Given the description of an element on the screen output the (x, y) to click on. 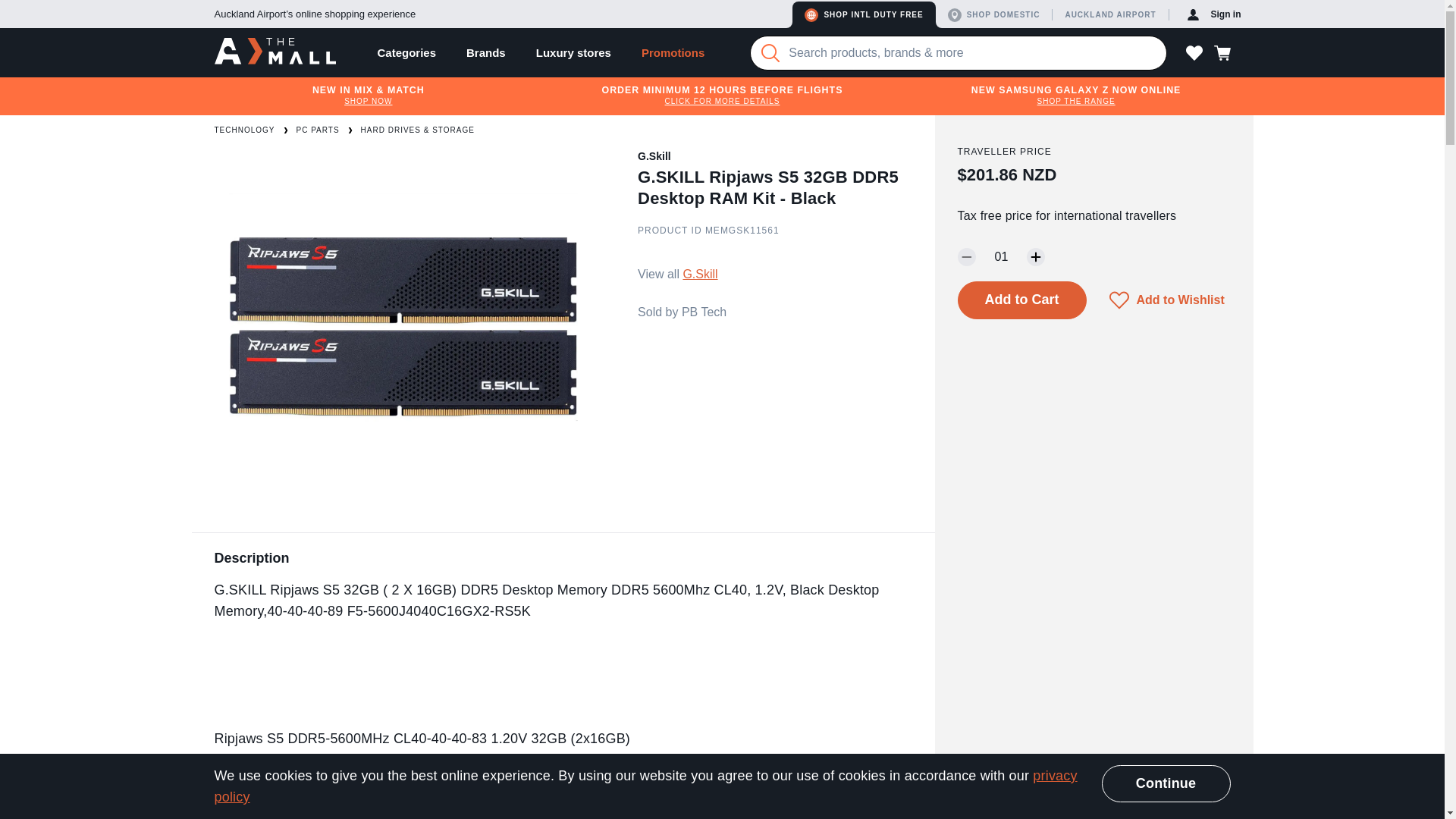
SHOP INTL DUTY FREE (863, 14)
AUCKLAND AIRPORT (1112, 14)
Sign in (1213, 14)
Categories (406, 51)
SHOP DOMESTIC (997, 14)
